Given the description of an element on the screen output the (x, y) to click on. 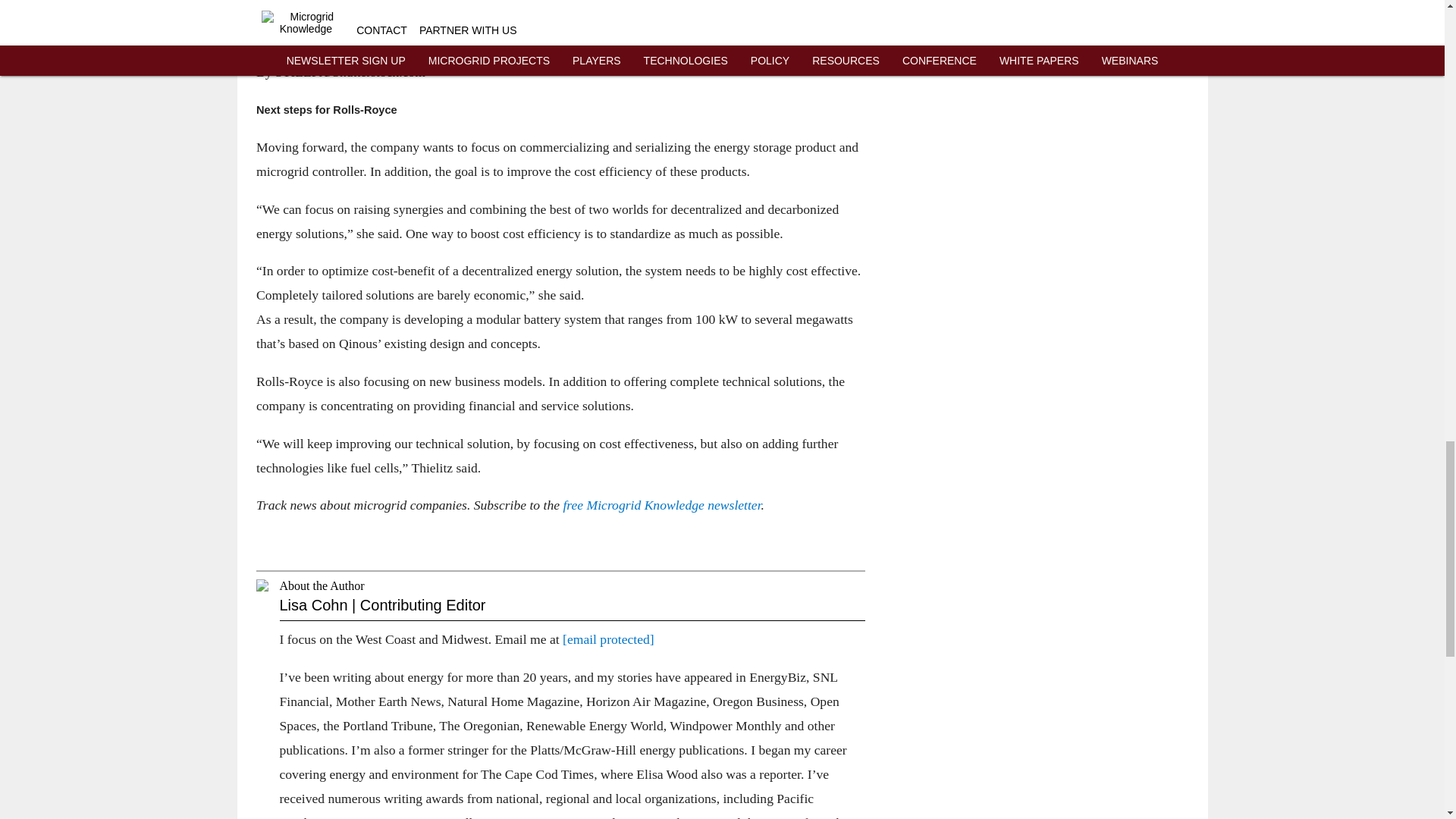
free Microgrid Knowledge newsletter (661, 504)
